Given the description of an element on the screen output the (x, y) to click on. 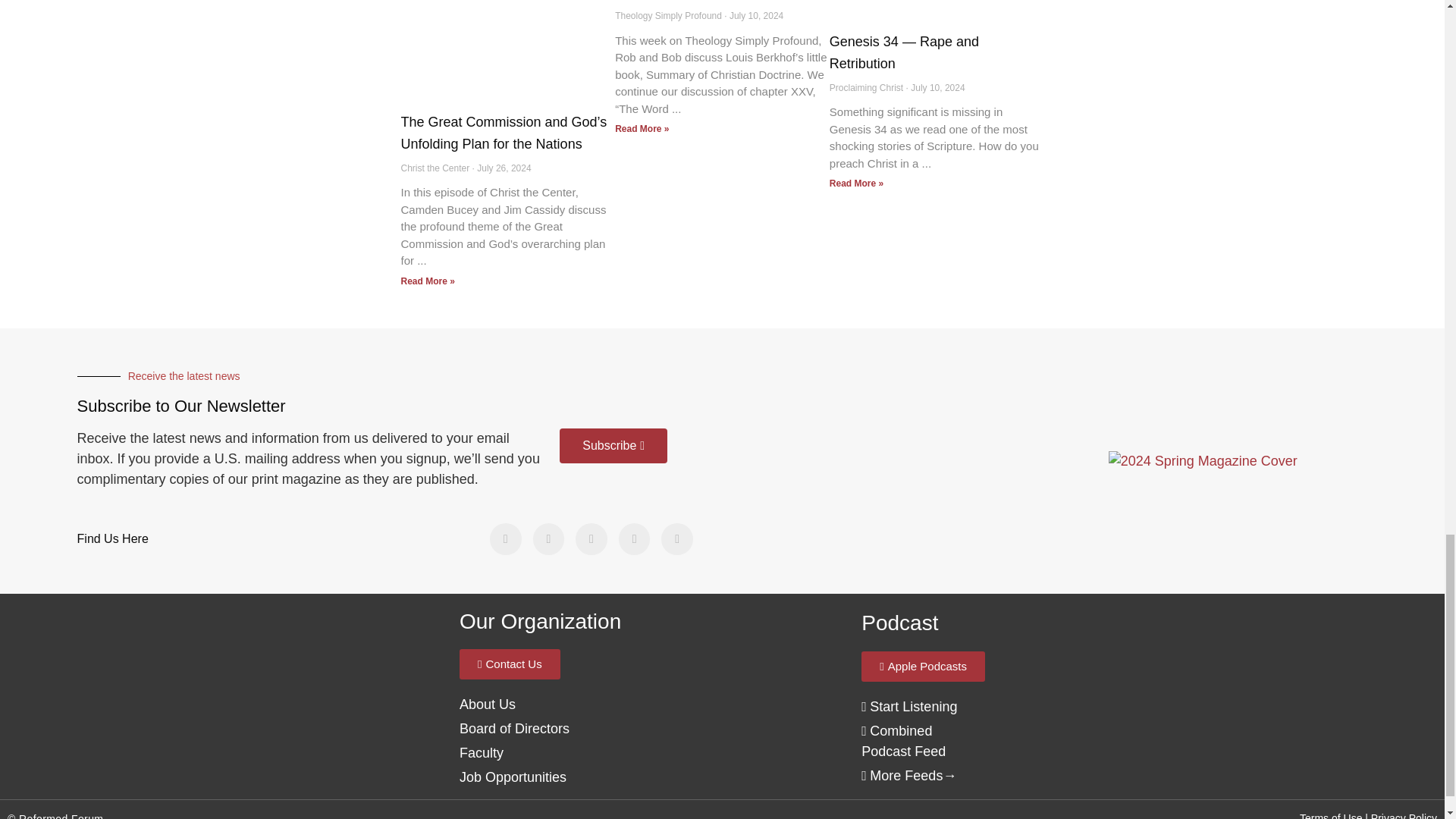
2024 Spring Magazine Cover (1202, 461)
About Us (514, 728)
More Feeds (901, 775)
Podcast Feed (908, 706)
Podcast Feed (902, 741)
About Us (487, 703)
Faculty (481, 752)
